Given the description of an element on the screen output the (x, y) to click on. 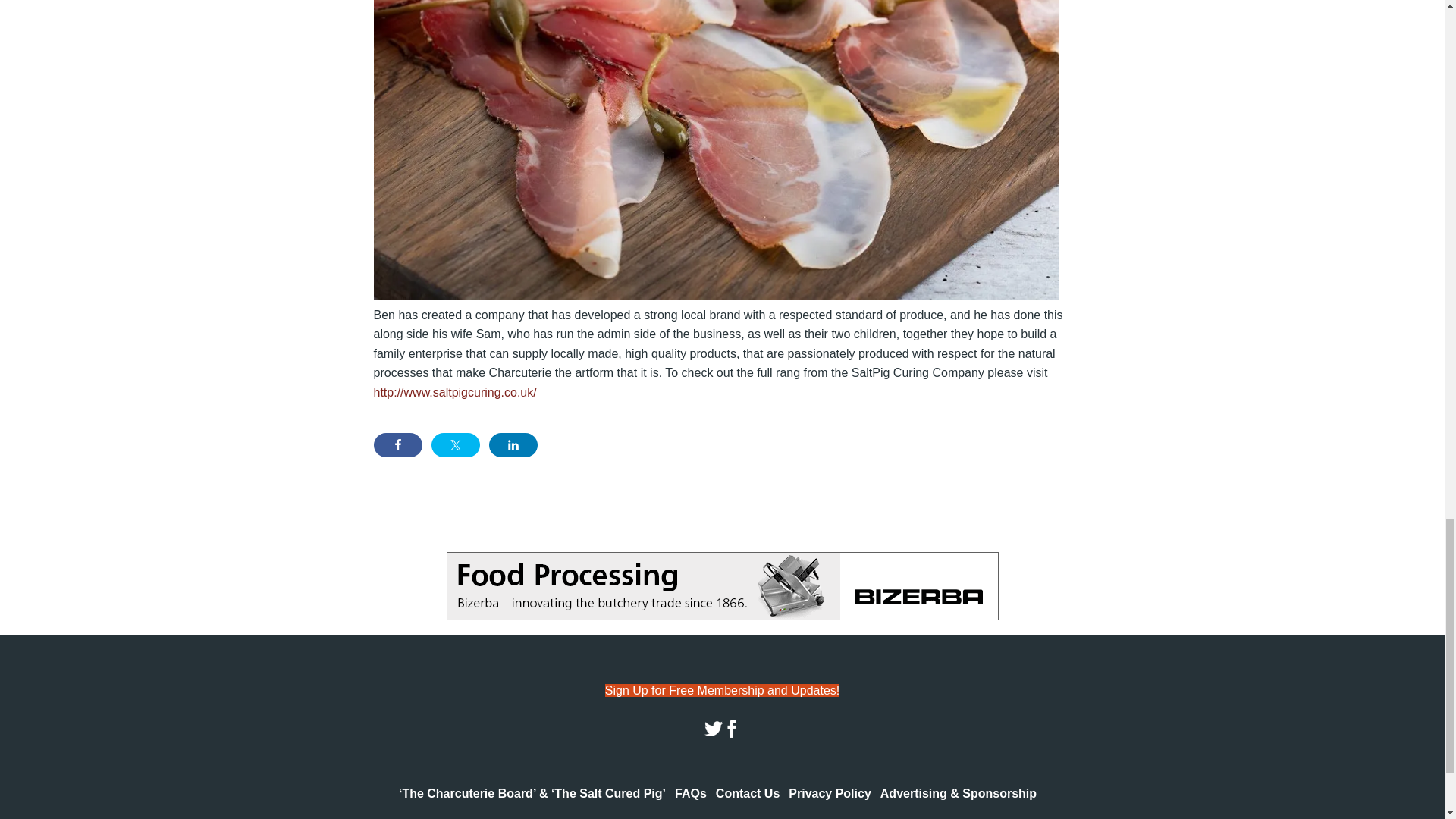
Sign Up for Free Membership and Updates! (722, 689)
Share on LinkedIn (512, 444)
Sign Up for Free Membership and Updates (722, 689)
Share on Twitter (454, 444)
Share on Facebook (397, 444)
